Given the description of an element on the screen output the (x, y) to click on. 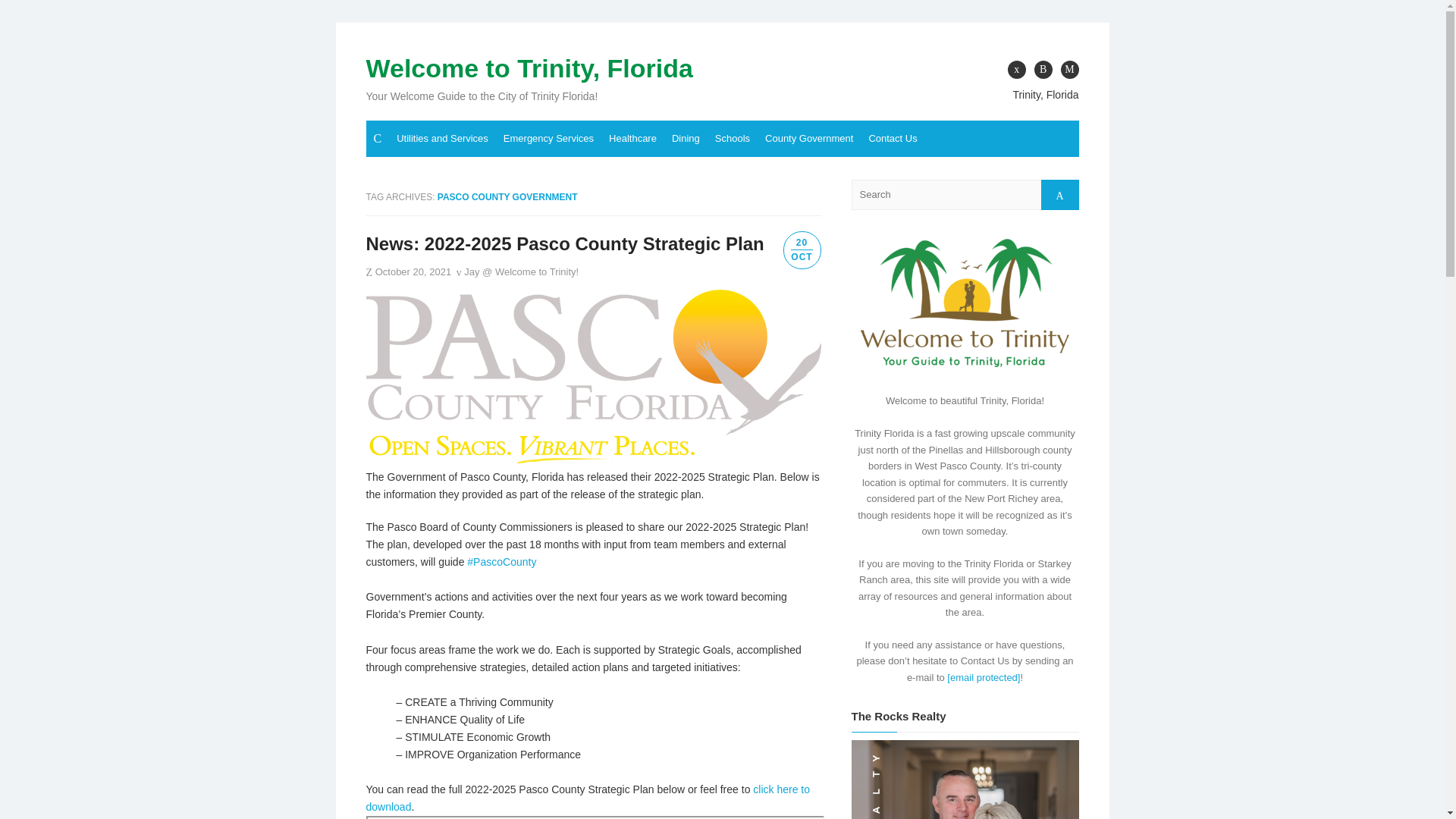
Schools (732, 138)
County Government (808, 138)
twitter (1042, 69)
Search (1059, 194)
October 20, 2021 (413, 271)
News: 2022-2025 Pasco County Strategic Plan (563, 243)
Dining (685, 138)
facebook (1016, 69)
Healthcare (632, 138)
Emergency Services (548, 138)
